Given the description of an element on the screen output the (x, y) to click on. 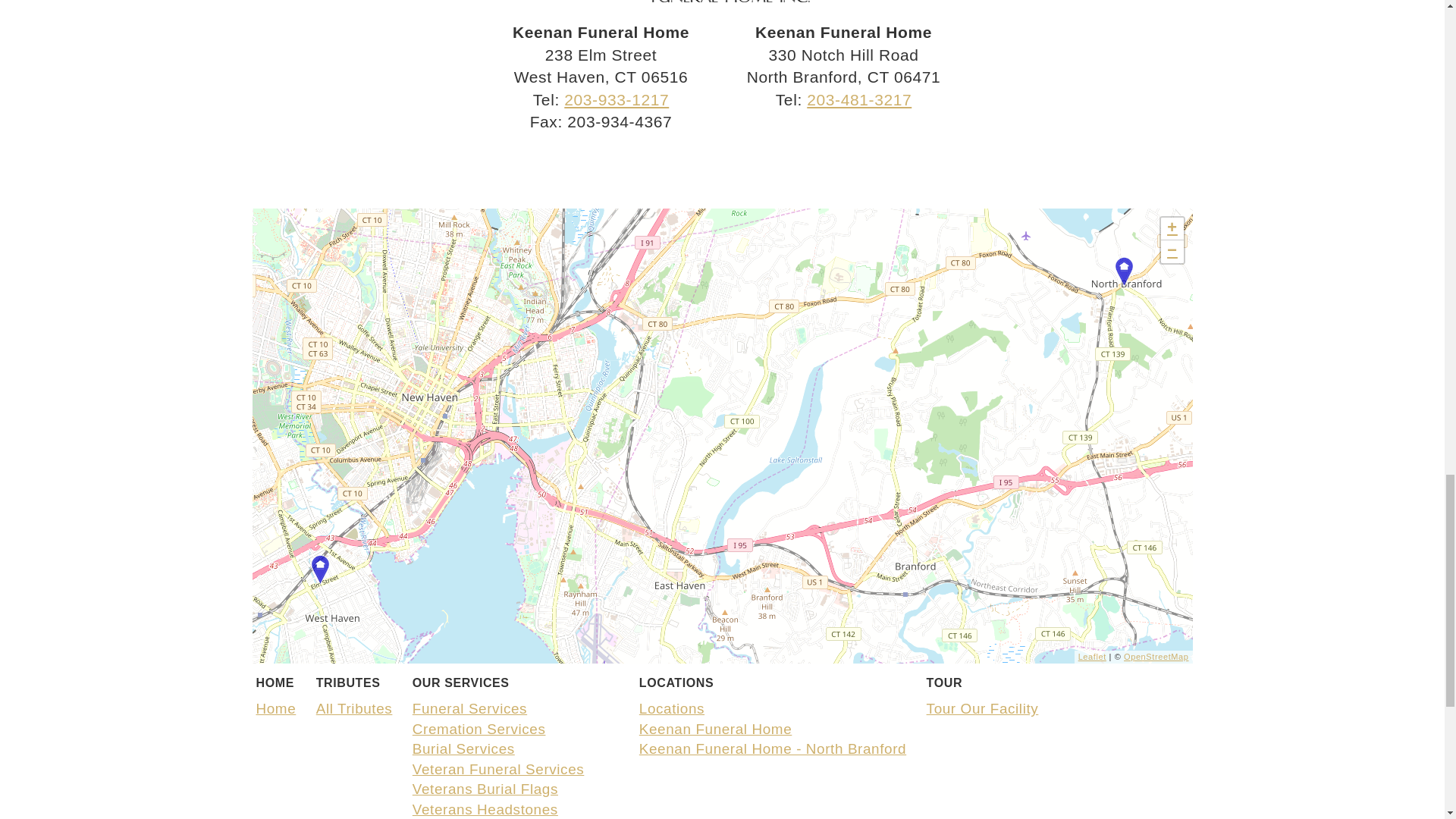
203-933-1217 (616, 99)
Send Flowers (665, 165)
Zoom out (1171, 251)
203-481-3217 (858, 99)
Contact Us (692, 165)
A JS library for interactive maps (1092, 655)
Zoom in (1171, 228)
